Given the description of an element on the screen output the (x, y) to click on. 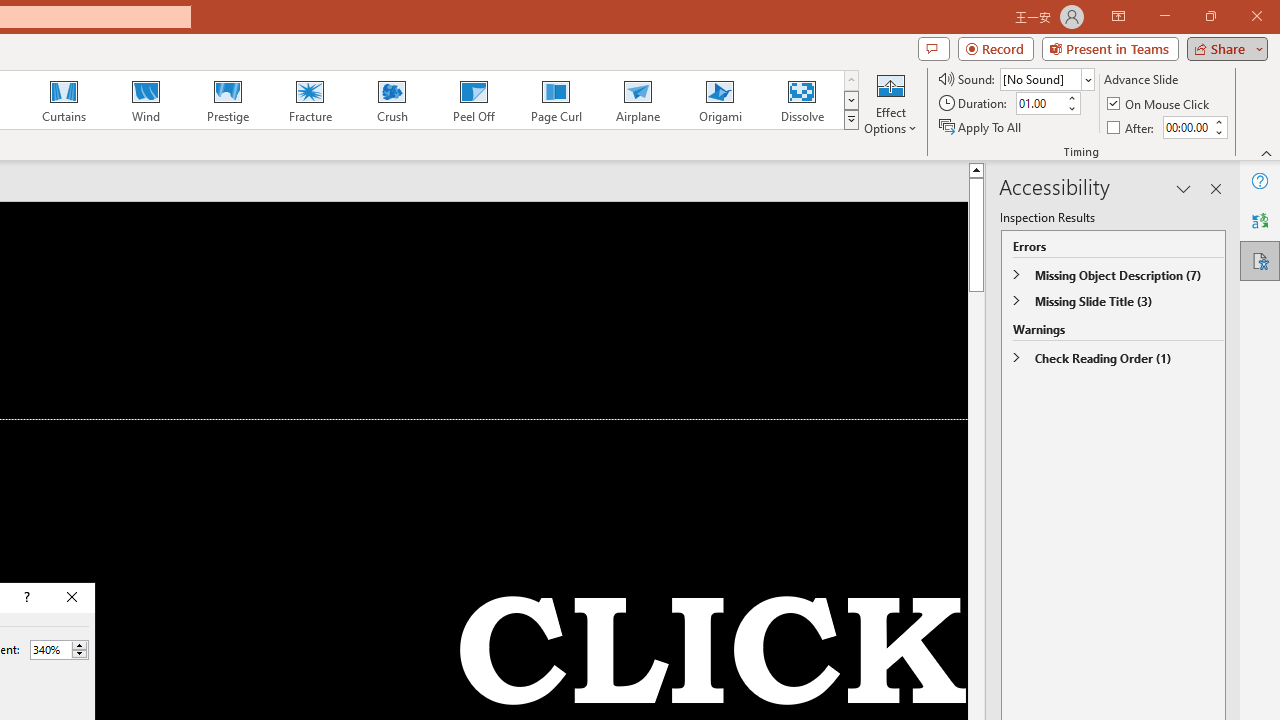
Peel Off (473, 100)
Airplane (637, 100)
Percent (50, 649)
Prestige (227, 100)
Page Curl (555, 100)
Crush (391, 100)
Dissolve (802, 100)
